Given the description of an element on the screen output the (x, y) to click on. 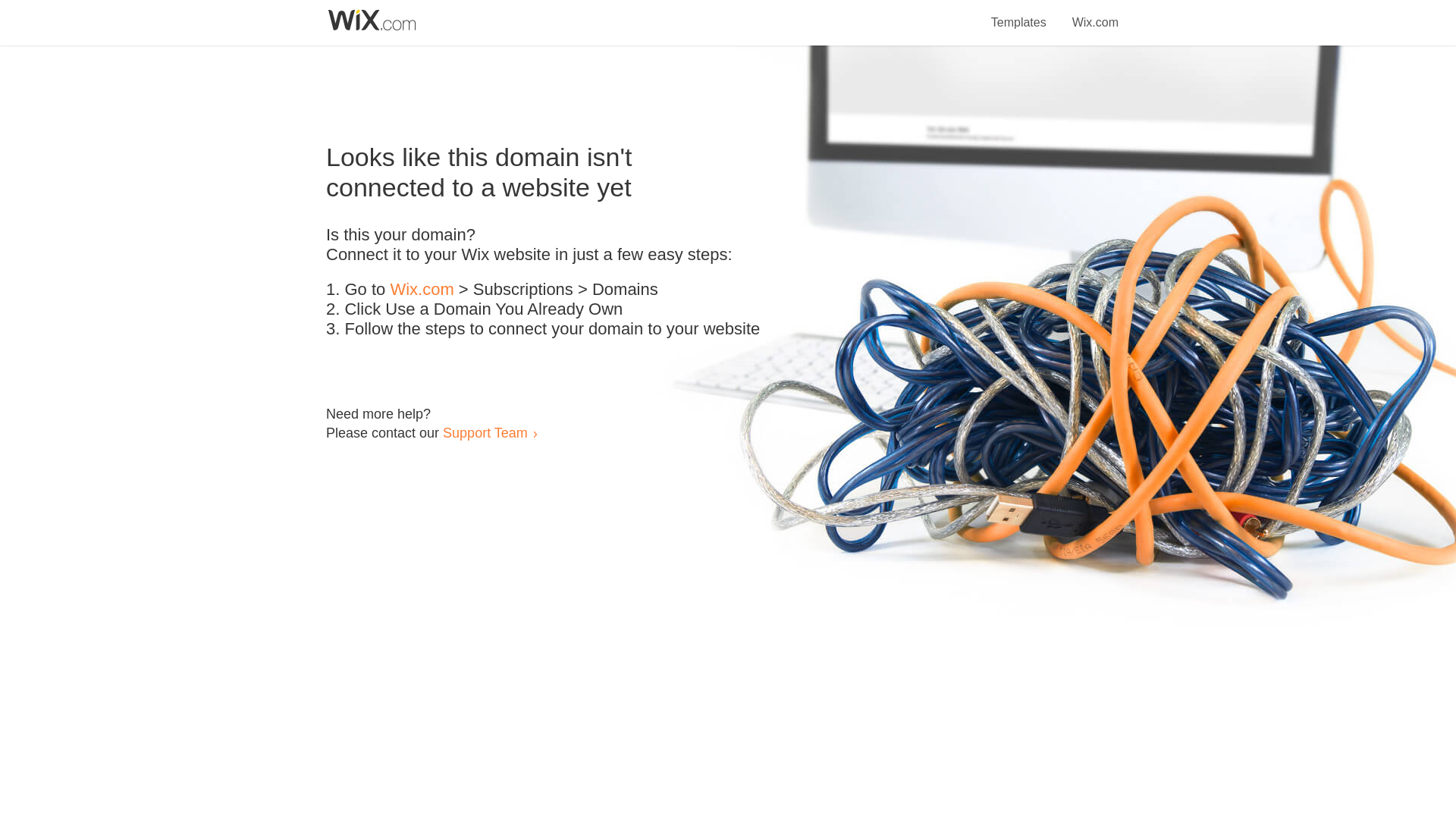
Support Team (484, 432)
Wix.com (1095, 14)
Wix.com (421, 289)
Templates (1018, 14)
